Given the description of an element on the screen output the (x, y) to click on. 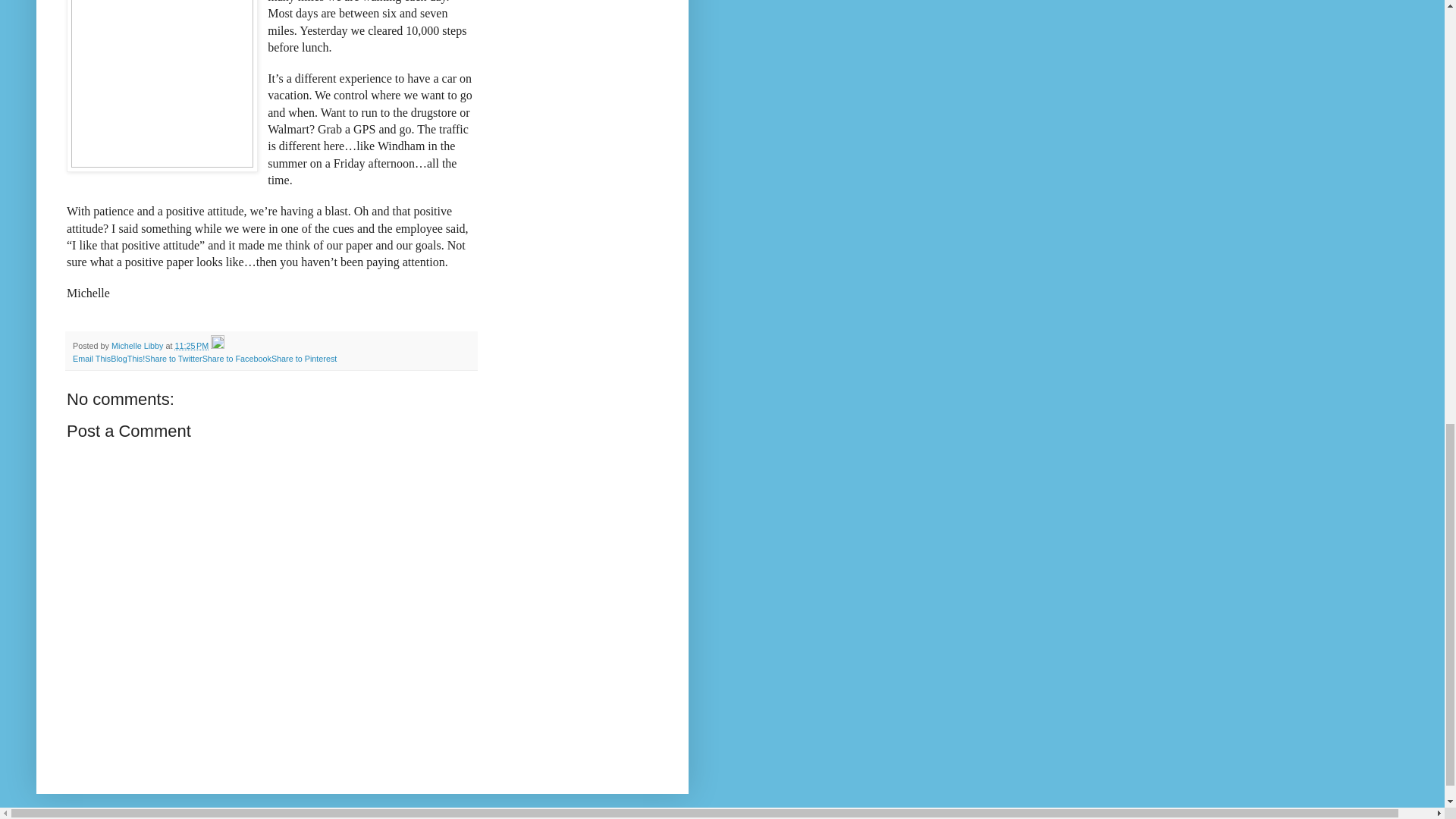
permanent link (191, 345)
Share to Twitter (173, 358)
Edit Post (217, 345)
Email This (91, 358)
Share to Facebook (236, 358)
BlogThis! (127, 358)
BlogThis! (127, 358)
author profile (138, 345)
Michelle Libby (138, 345)
